Given the description of an element on the screen output the (x, y) to click on. 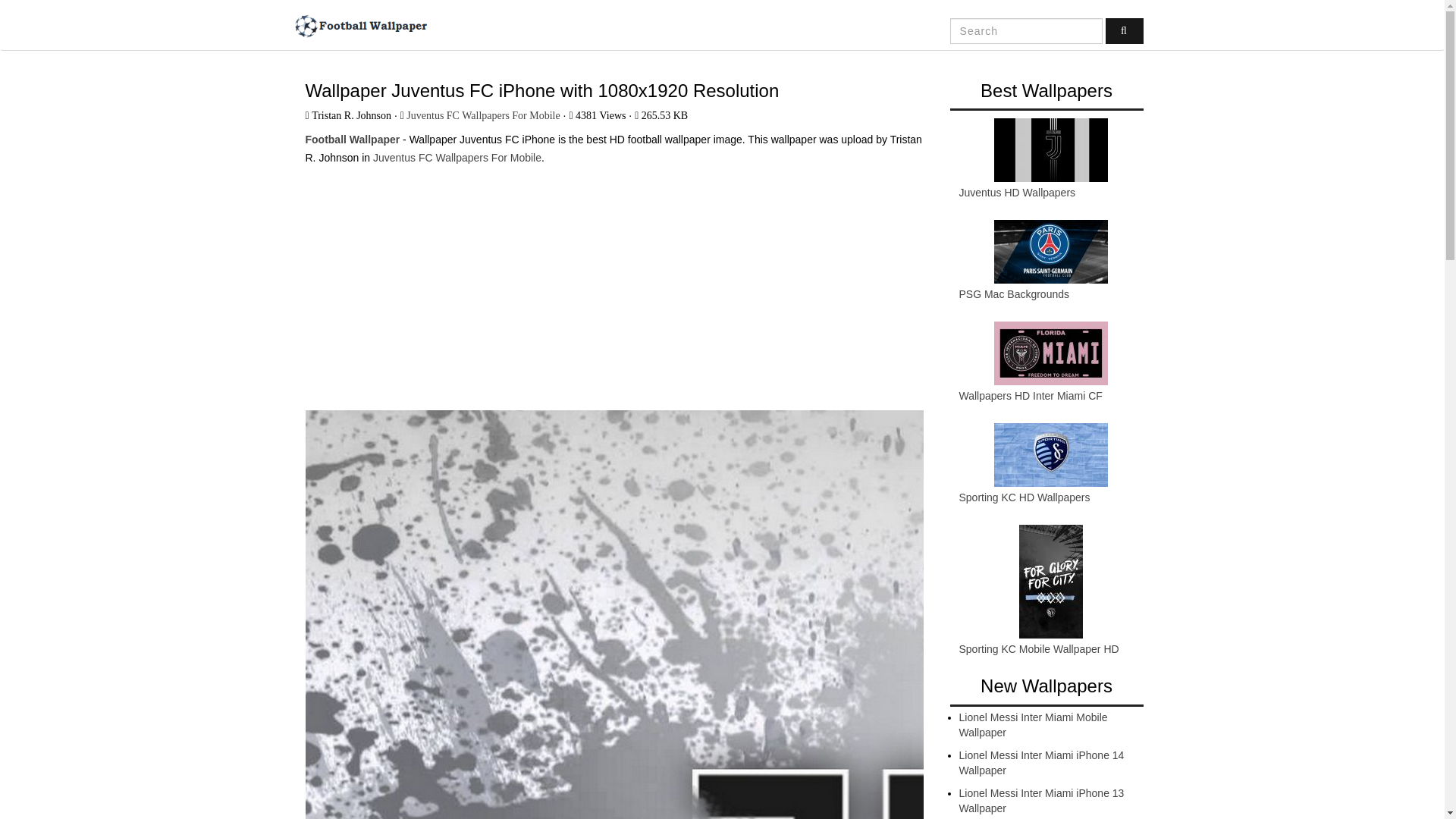
Juventus FC Wallpapers For Mobile (482, 115)
Juventus HD Wallpapers (1016, 192)
Football Wallpaper (351, 139)
Search for: (1026, 31)
Football Wallpaper (359, 26)
Juventus FC Wallpapers For Mobile (456, 157)
PSG Mac Backgrounds (1013, 294)
Advertisement (613, 281)
